Given the description of an element on the screen output the (x, y) to click on. 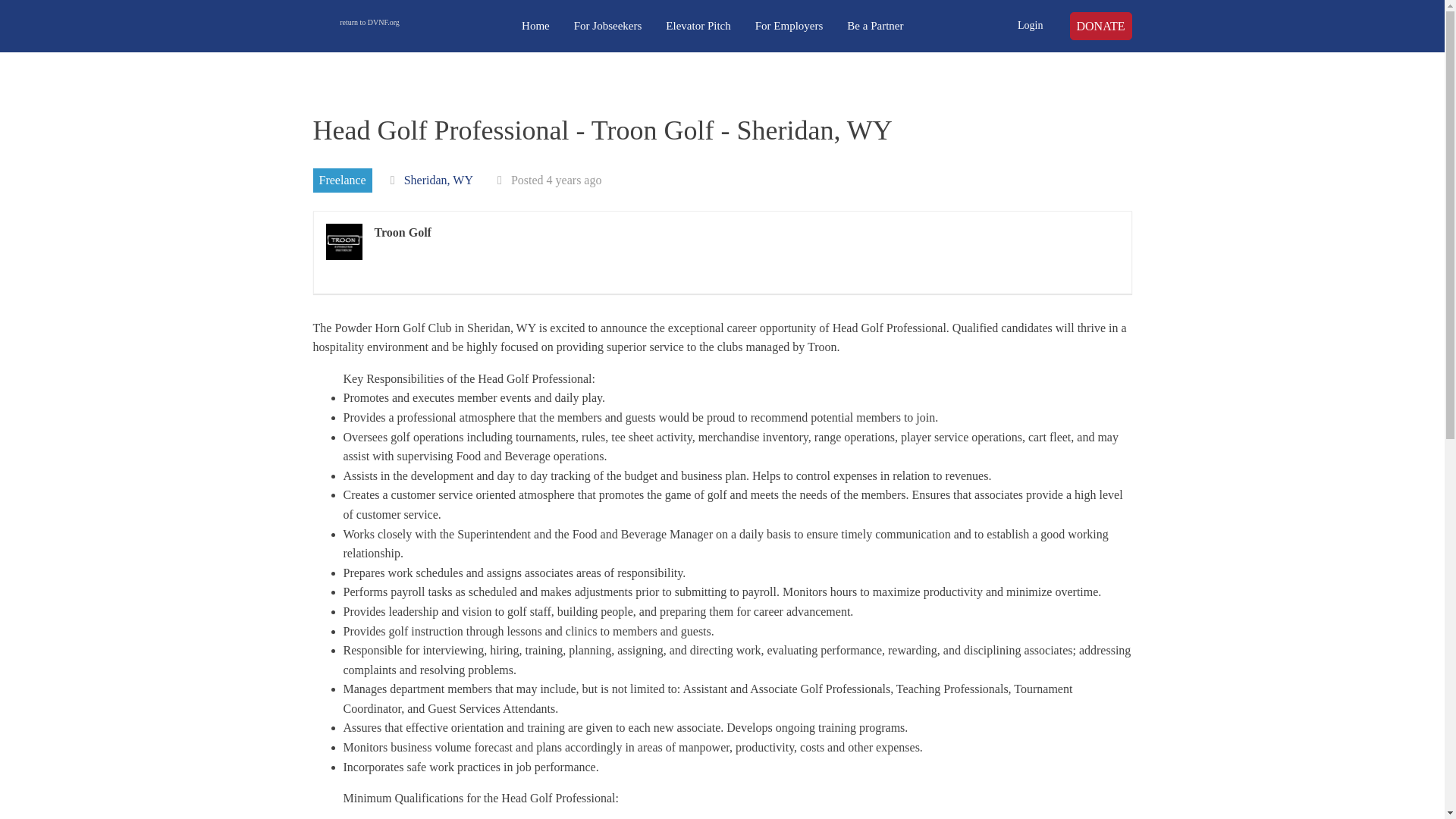
Elevator Pitch (697, 26)
DONATE (1099, 26)
For Jobseekers (607, 26)
Be a Partner (874, 26)
For Employers (788, 26)
Home (535, 26)
Login (1030, 25)
return to DVNF.org (369, 26)
Sheridan, WY (438, 179)
